Given the description of an element on the screen output the (x, y) to click on. 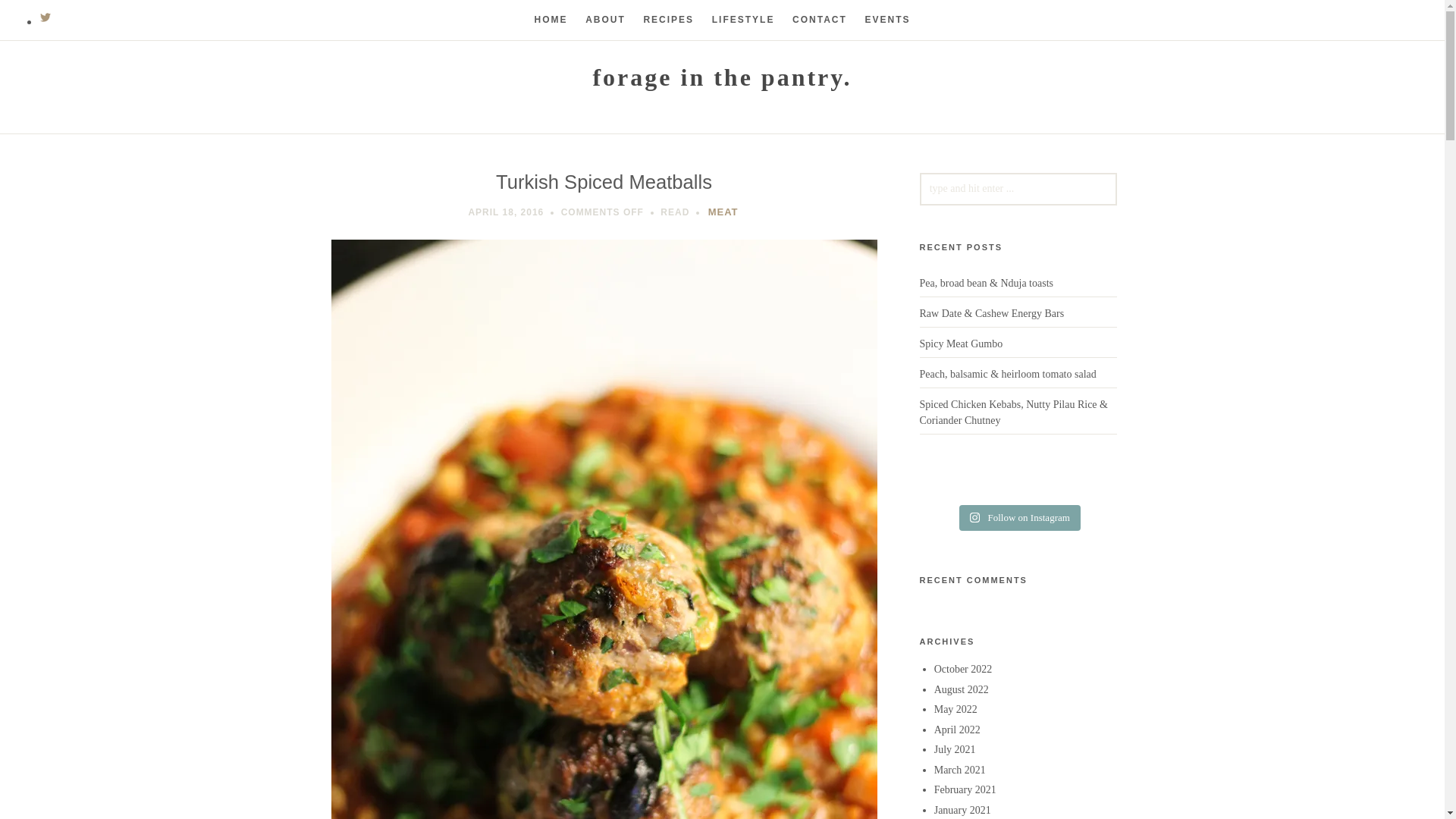
CONTACT (819, 20)
forage in the pantry. (721, 76)
Search (39, 16)
RECIPES (668, 20)
Spicy Meat Gumbo (960, 343)
MEAT (722, 211)
ABOUT (605, 20)
LIFESTYLE (742, 20)
EVENTS (887, 20)
